Given the description of an element on the screen output the (x, y) to click on. 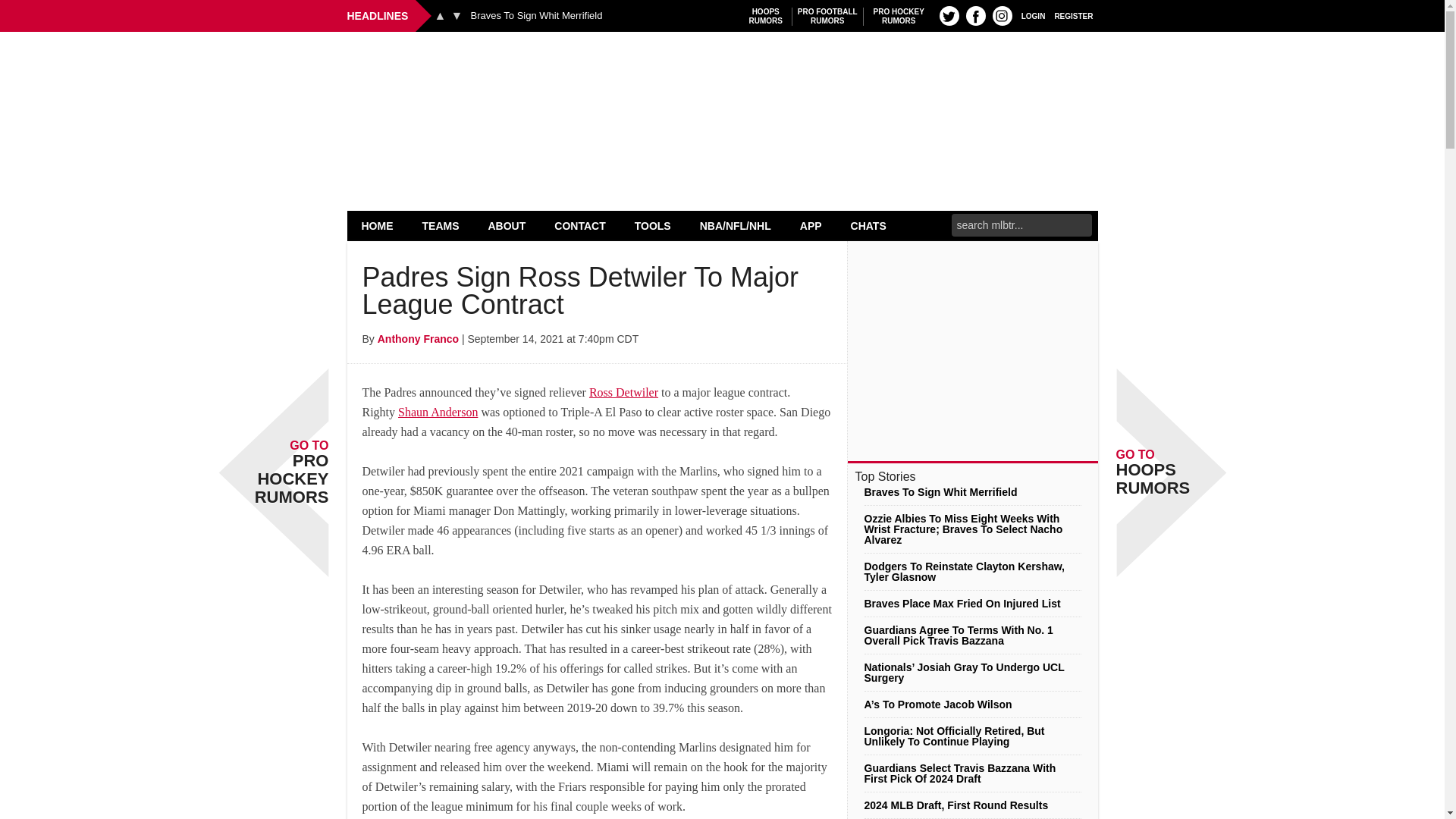
Twitter profile (949, 15)
REGISTER (1073, 15)
Search (765, 16)
Instagram profile (722, 69)
HOME (1001, 15)
Braves To Sign Whit Merrifield (377, 225)
Previous (827, 16)
Next (536, 15)
FB profile (439, 15)
LOGIN (456, 15)
TEAMS (975, 15)
